Given the description of an element on the screen output the (x, y) to click on. 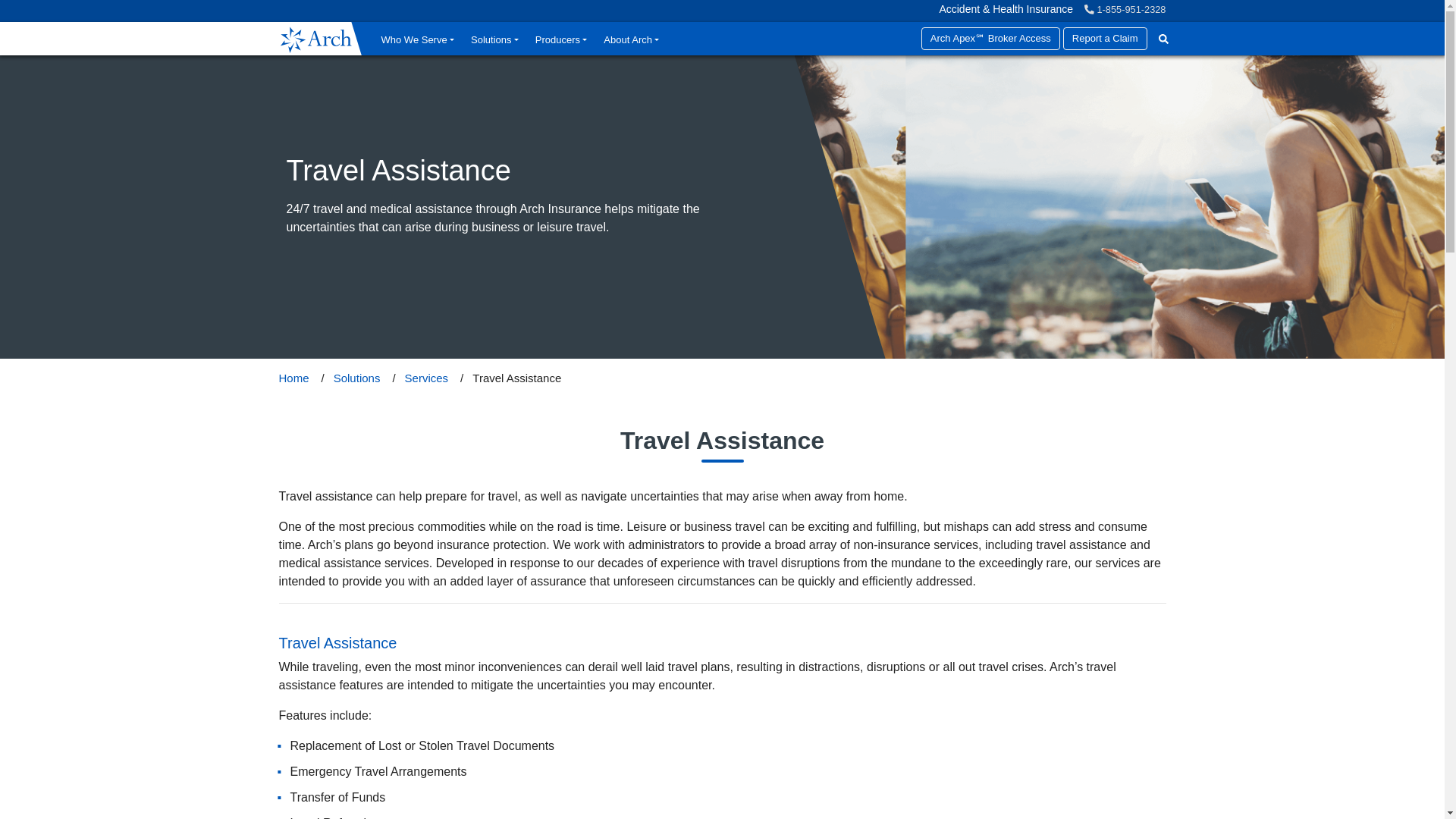
Who We Serve (417, 39)
Home (293, 378)
Solutions (495, 39)
Report a Claim (1104, 38)
1-855-951-2328 (1125, 9)
Go to the Search page (1163, 38)
Solutions (356, 378)
Go to the Report a Claim page (1104, 38)
Go to the Home page (313, 39)
About Arch (630, 39)
Producers (561, 39)
Services (426, 378)
